Given the description of an element on the screen output the (x, y) to click on. 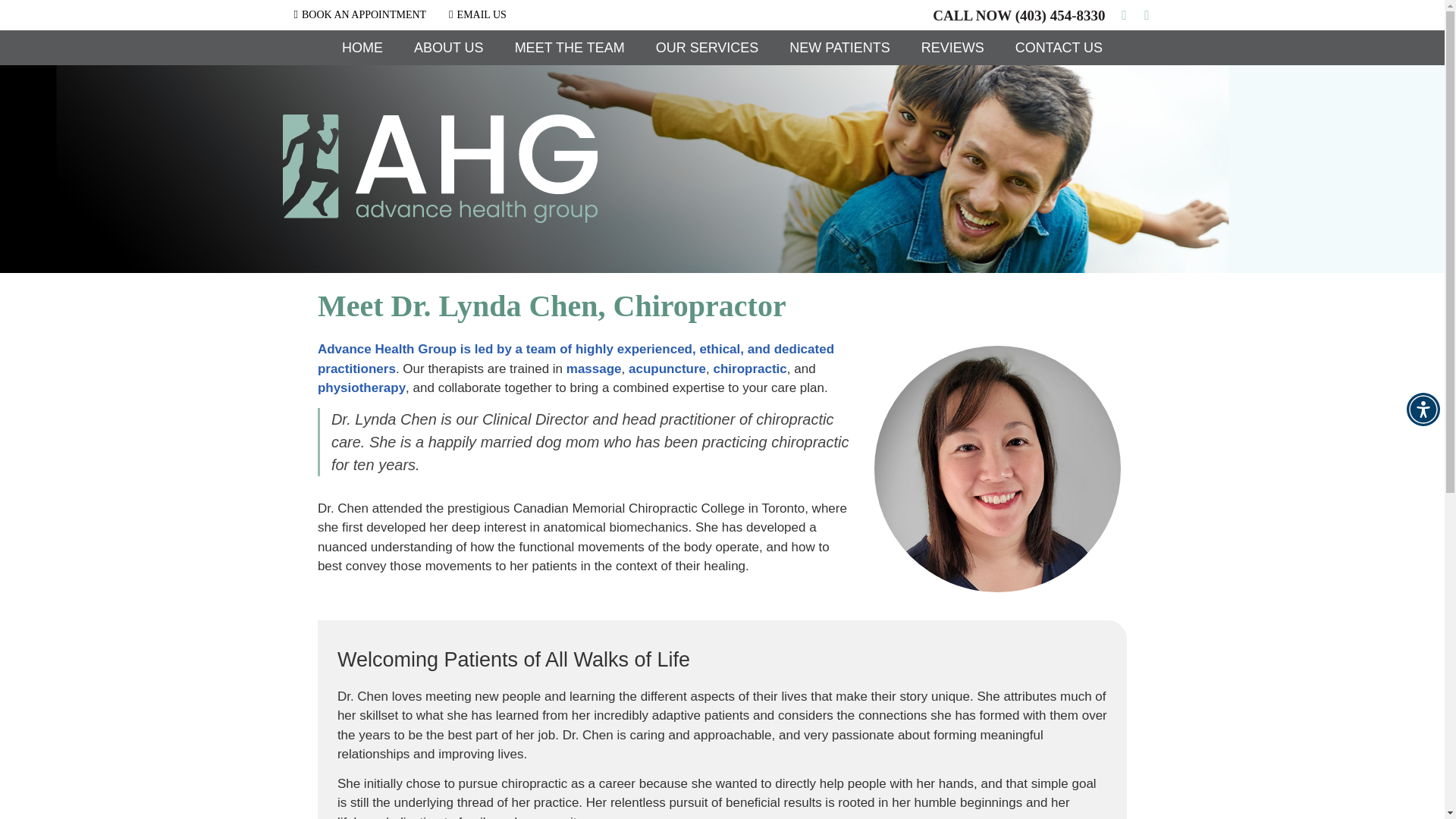
MEET THE TEAM (569, 47)
CONTACT US (1059, 47)
Advance Health Group (439, 218)
massage (593, 368)
NEW PATIENTS (839, 47)
ABOUT US (448, 47)
Facebook Social Button (1123, 14)
Welcome to Advance Health Group (439, 218)
EMAIL US (477, 14)
acupuncture (667, 368)
physiotherapy (361, 387)
chiropractic (749, 368)
Accessibility Menu (1422, 409)
REVIEWS (952, 47)
